Given the description of an element on the screen output the (x, y) to click on. 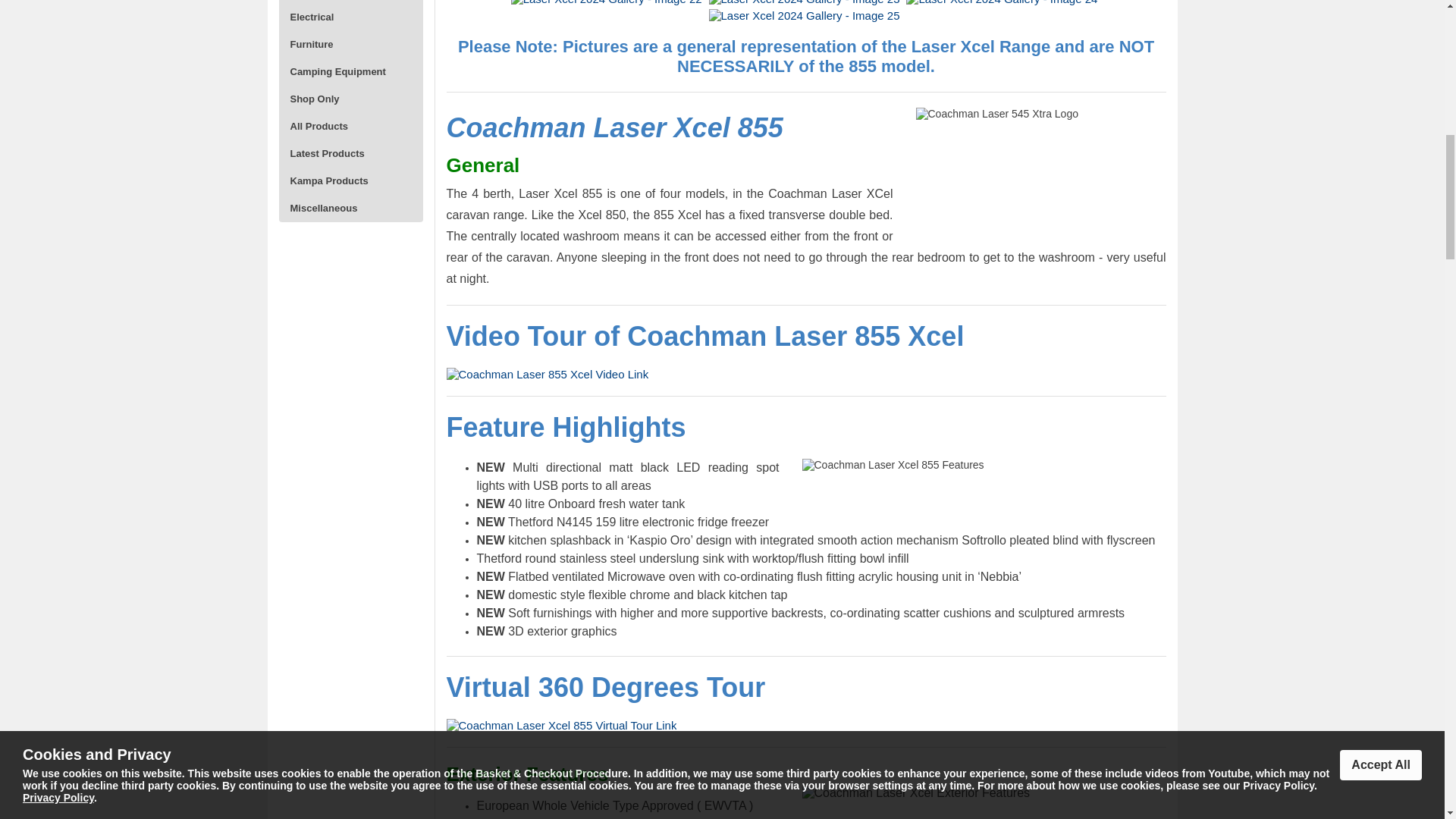
Electrical (351, 17)
All Products (351, 126)
Camping Equipment (351, 71)
Shop Only (351, 99)
Isabella Camp-Let (351, 2)
Latest Products (351, 153)
Furniture (351, 44)
Kampa Products (351, 180)
Miscellaneous (351, 207)
